Given the description of an element on the screen output the (x, y) to click on. 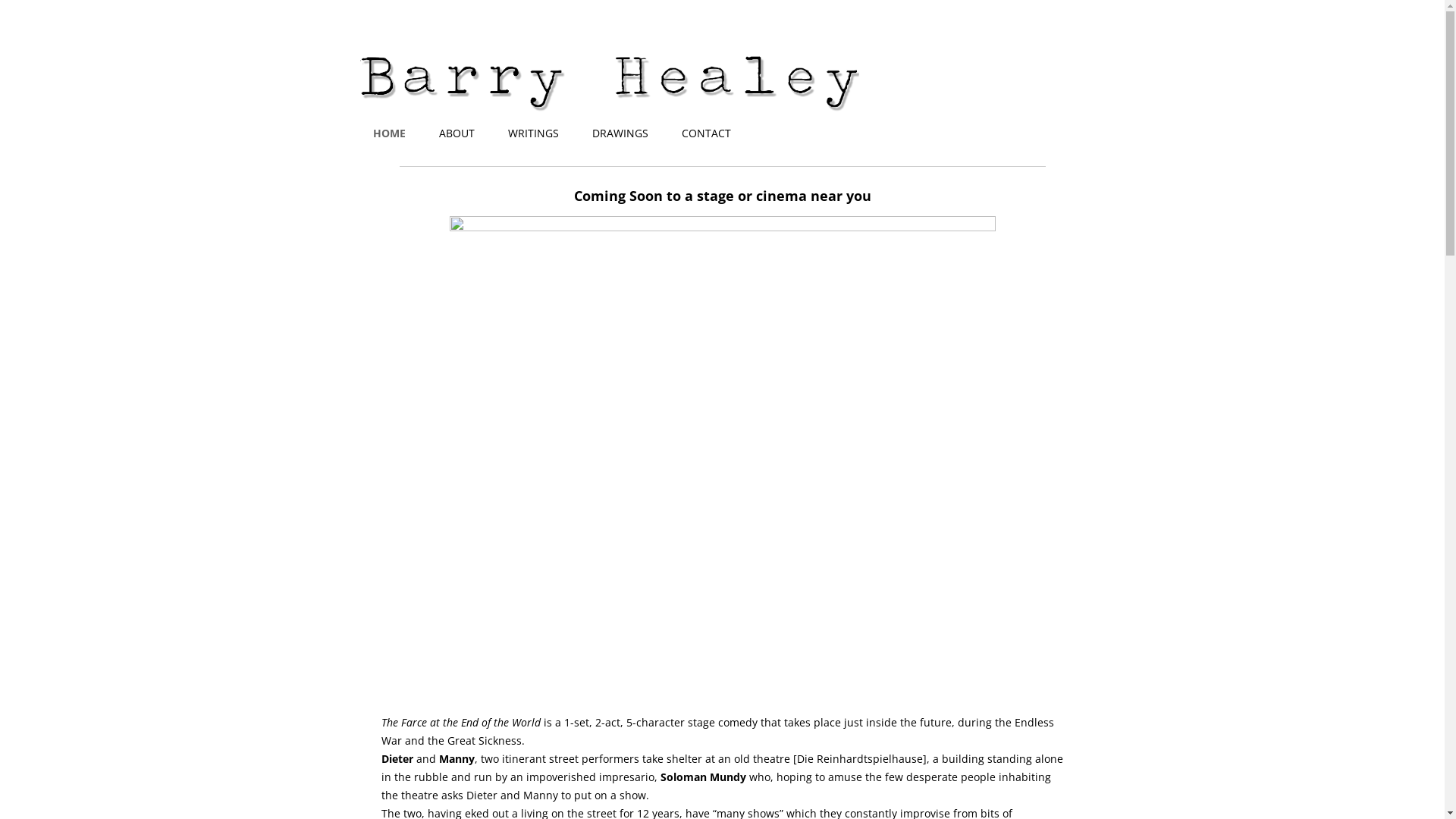
CONTACT Element type: text (706, 133)
ABOUT Element type: text (456, 133)
DRAWINGS Element type: text (620, 133)
Skip to content Element type: text (759, 41)
WRITINGS Element type: text (533, 133)
HOME Element type: text (389, 133)
